Given the description of an element on the screen output the (x, y) to click on. 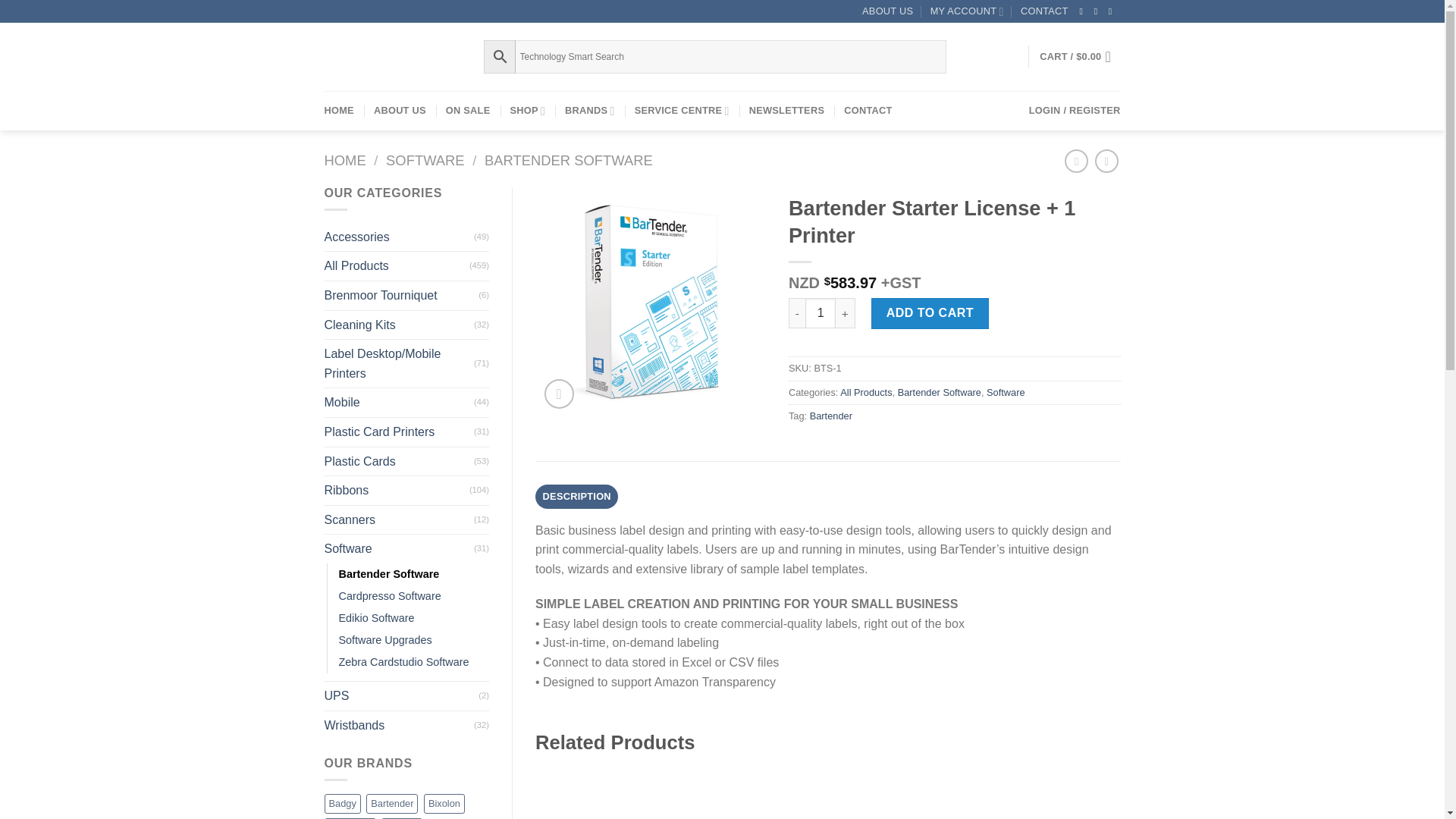
CONTACT (1044, 11)
Zoom (558, 393)
1 (820, 313)
ABOUT US (886, 11)
SHOP (526, 110)
MY ACCOUNT (967, 11)
ON SALE (467, 110)
ABOUT US (400, 110)
bartender-starter (650, 301)
Qty (820, 313)
PMC Technology (392, 57)
Cart (1079, 56)
